Given the description of an element on the screen output the (x, y) to click on. 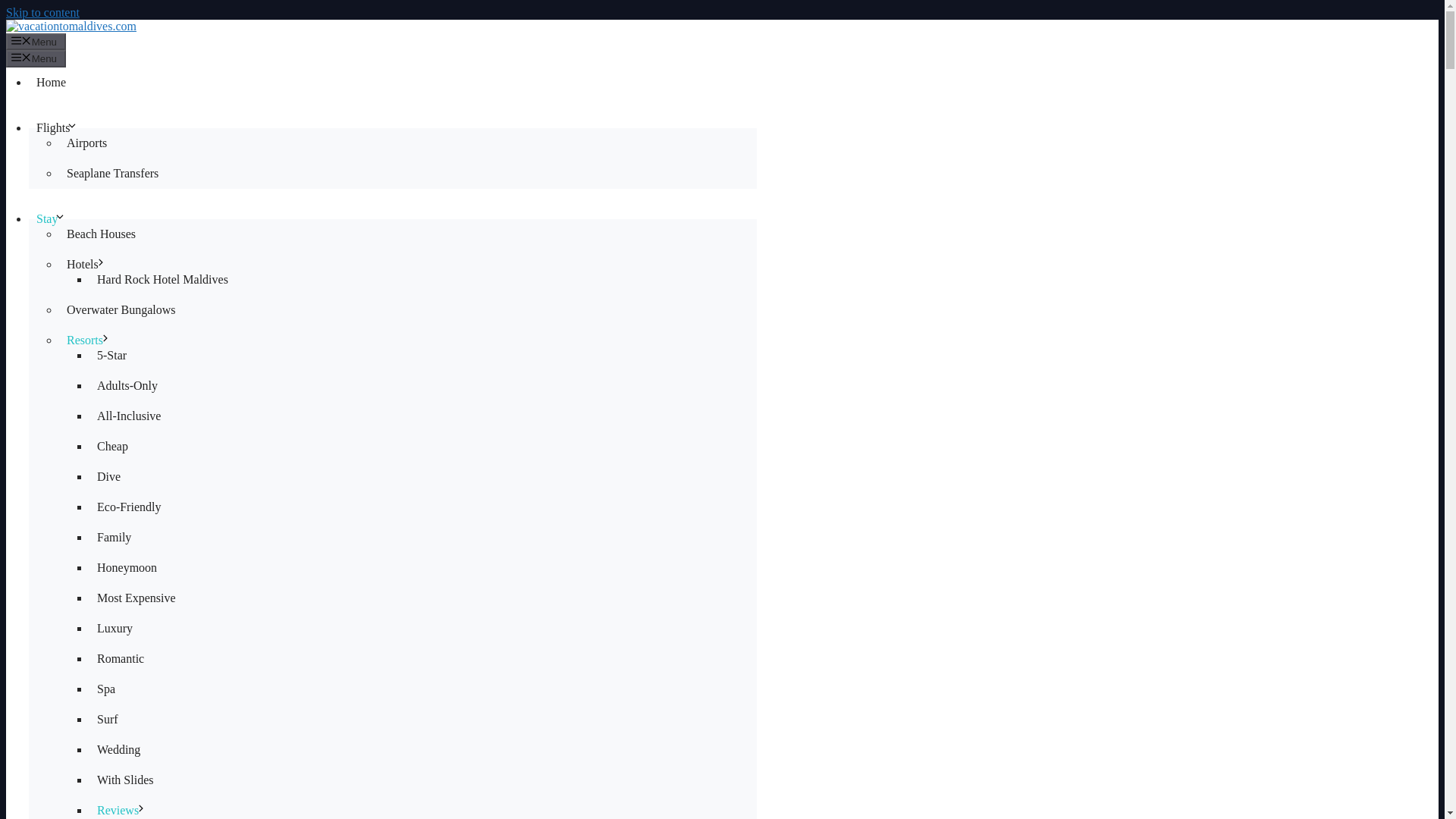
Hard Rock Hotel Maldives (161, 279)
Reviews (124, 807)
Overwater Bungalows (121, 309)
With Slides (124, 779)
Hotels (90, 264)
Family (113, 537)
Skip to content (42, 11)
Honeymoon (126, 567)
Stay (55, 218)
Seaplane Transfers (112, 172)
